Given the description of an element on the screen output the (x, y) to click on. 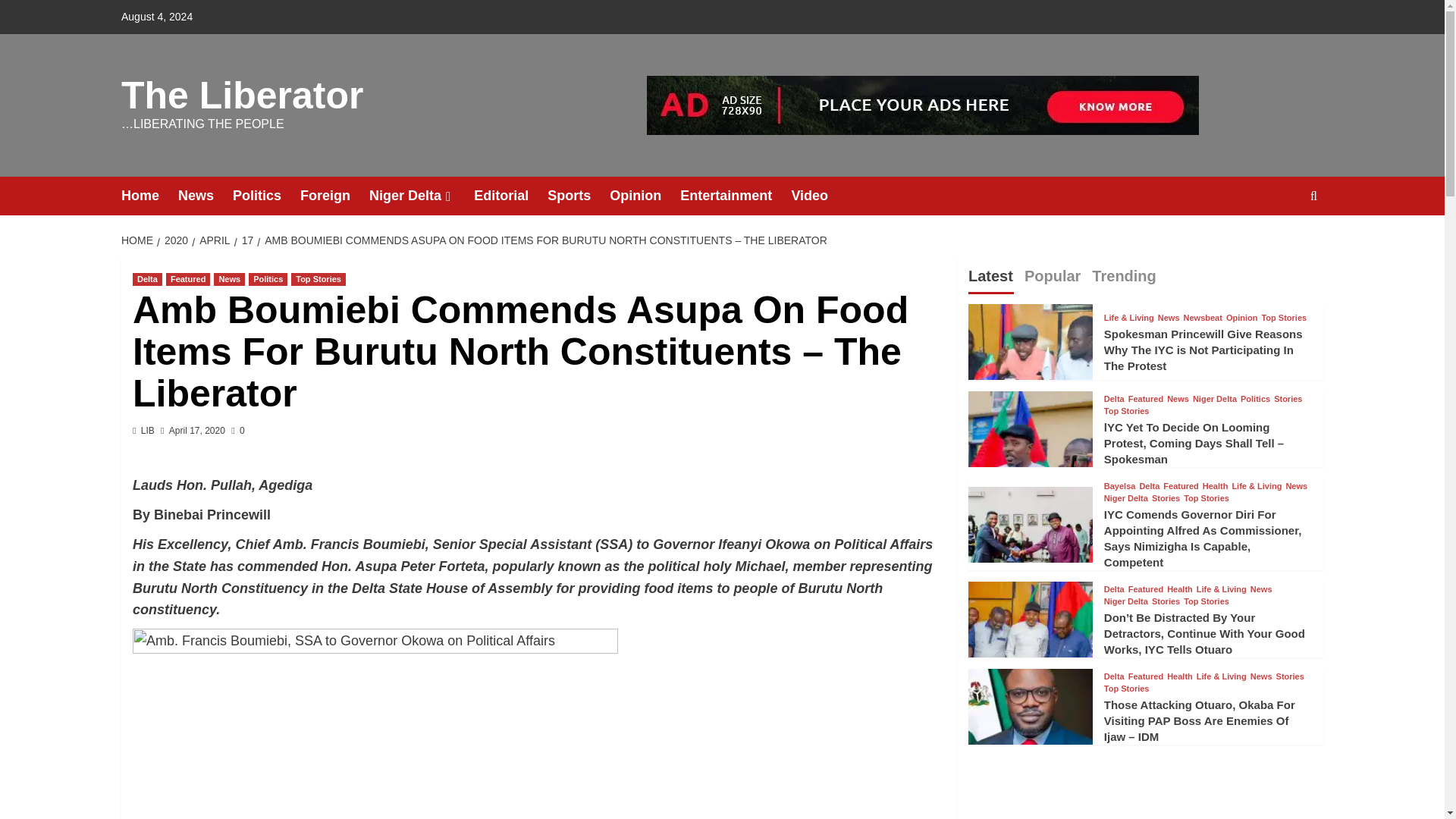
2020 (174, 240)
Delta (146, 278)
Top Stories (318, 278)
Foreign (334, 195)
Video (818, 195)
Sports (578, 195)
LIB (147, 430)
HOME (138, 240)
April 17, 2020 (196, 430)
The Liberator (241, 95)
Featured (187, 278)
News (229, 278)
Editorial (510, 195)
0 (237, 430)
